Given the description of an element on the screen output the (x, y) to click on. 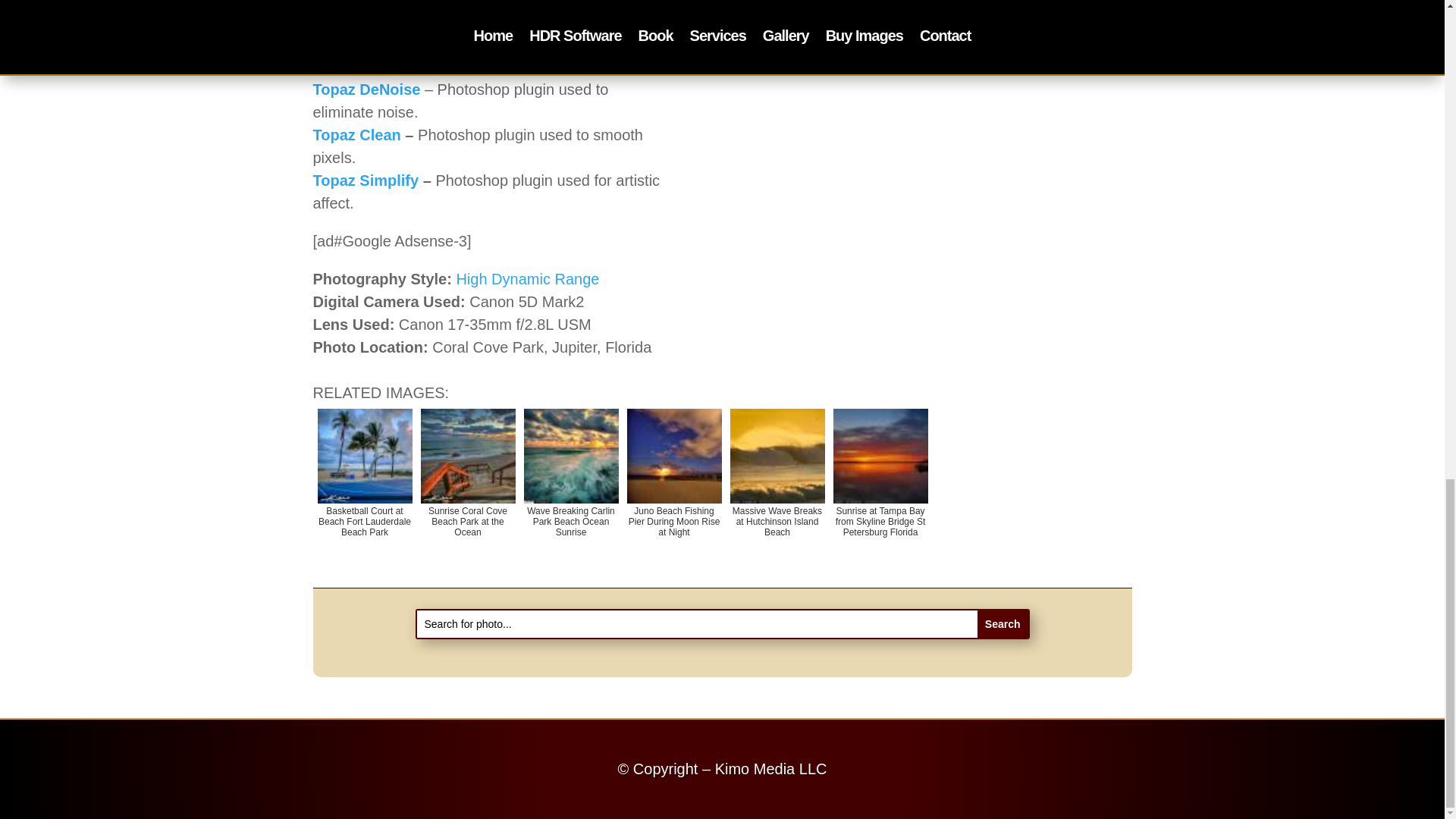
High Dynamic Range (526, 279)
Topaz Clean (356, 134)
Topaz DeNoise (366, 89)
Search (1001, 624)
Search (1001, 624)
Search (1001, 624)
Topaz Adjust (359, 44)
Photomatix (353, 3)
Topaz Simplify (366, 180)
